Given the description of an element on the screen output the (x, y) to click on. 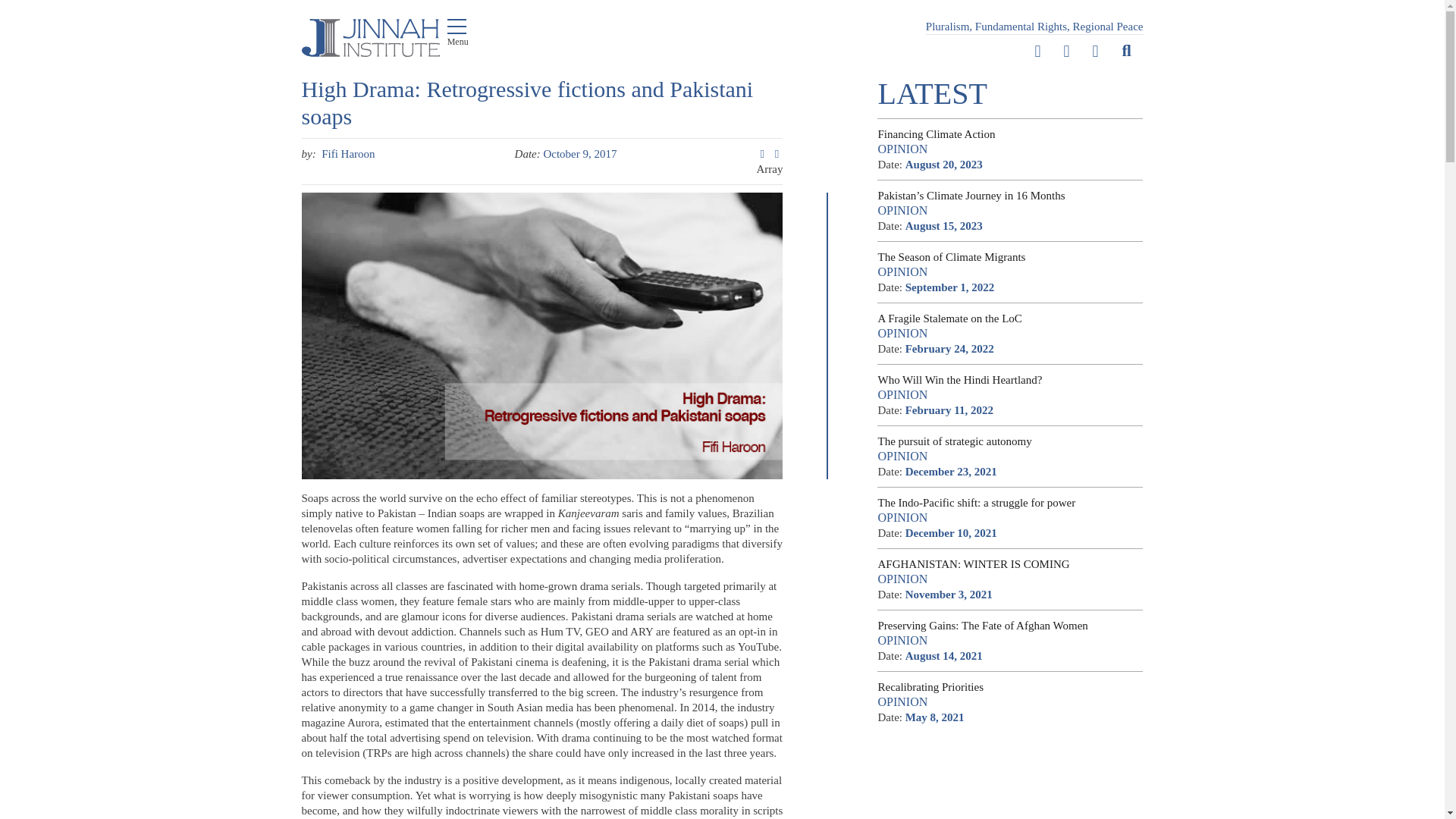
Instagram (1095, 51)
Twitter (1038, 51)
Instagram (1095, 51)
Facebook (1067, 51)
Facebook (1067, 51)
Twitter (1038, 51)
